Given the description of an element on the screen output the (x, y) to click on. 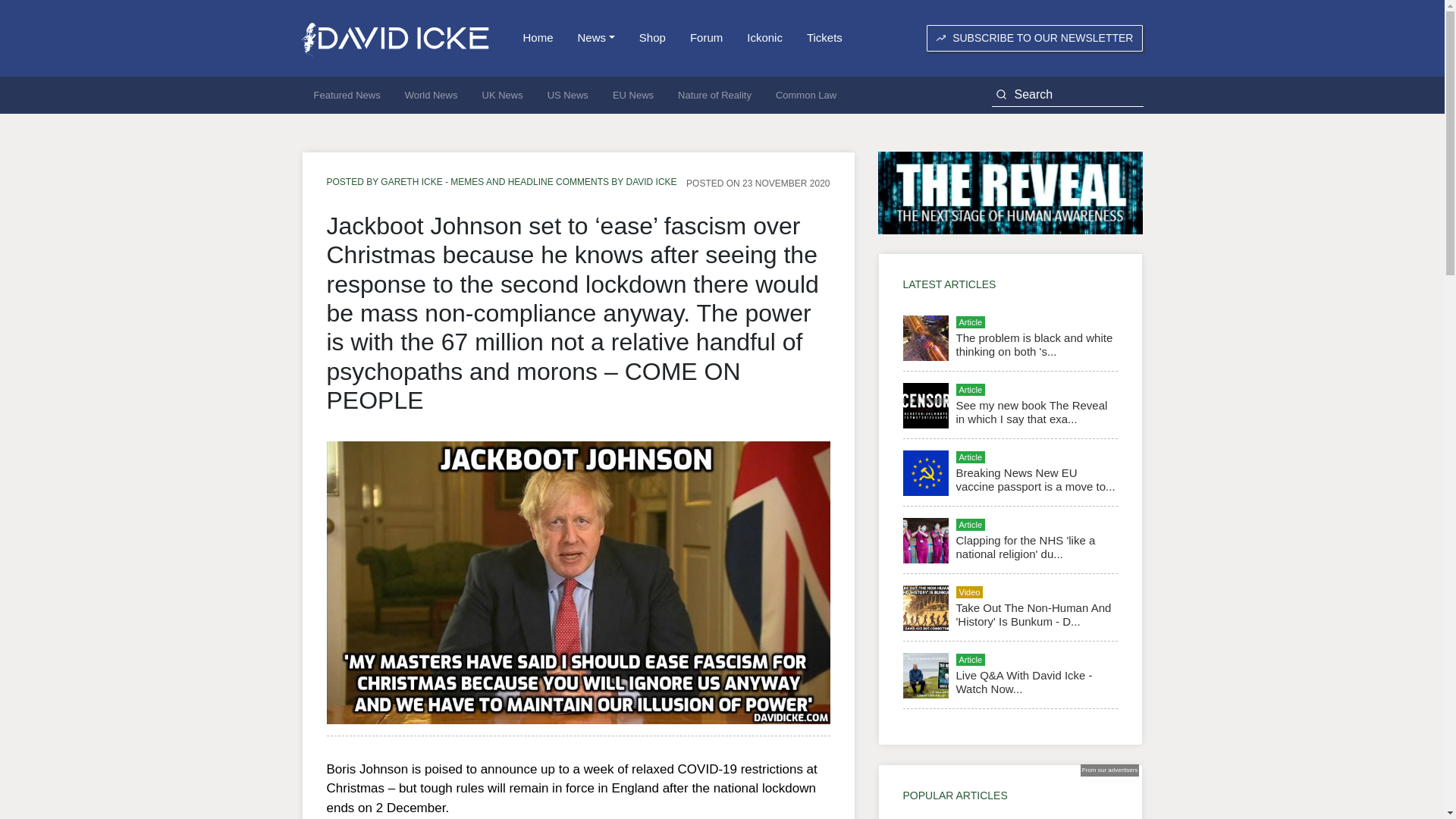
Shop (652, 37)
See my new book The Reveal in which I say that exa... (1030, 411)
SUBSCRIBE TO OUR NEWSLETTER (1034, 38)
Ickonic (764, 37)
US News (567, 94)
News (596, 37)
Featured News (347, 94)
